Given the description of an element on the screen output the (x, y) to click on. 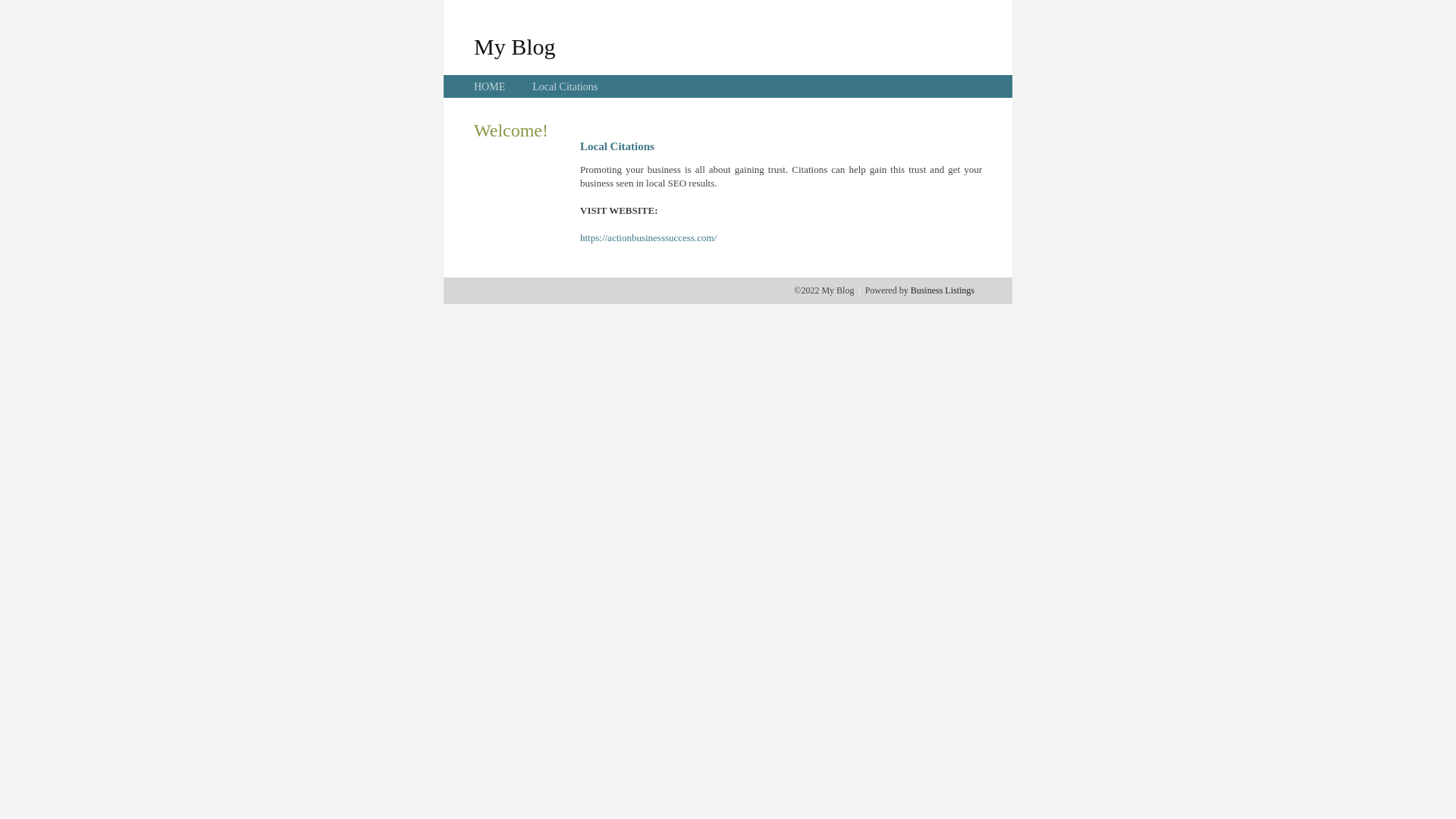
My Blog Element type: text (514, 46)
Business Listings Element type: text (942, 290)
Local Citations Element type: text (564, 86)
HOME Element type: text (489, 86)
https://actionbusinesssuccess.com/ Element type: text (648, 237)
